Given the description of an element on the screen output the (x, y) to click on. 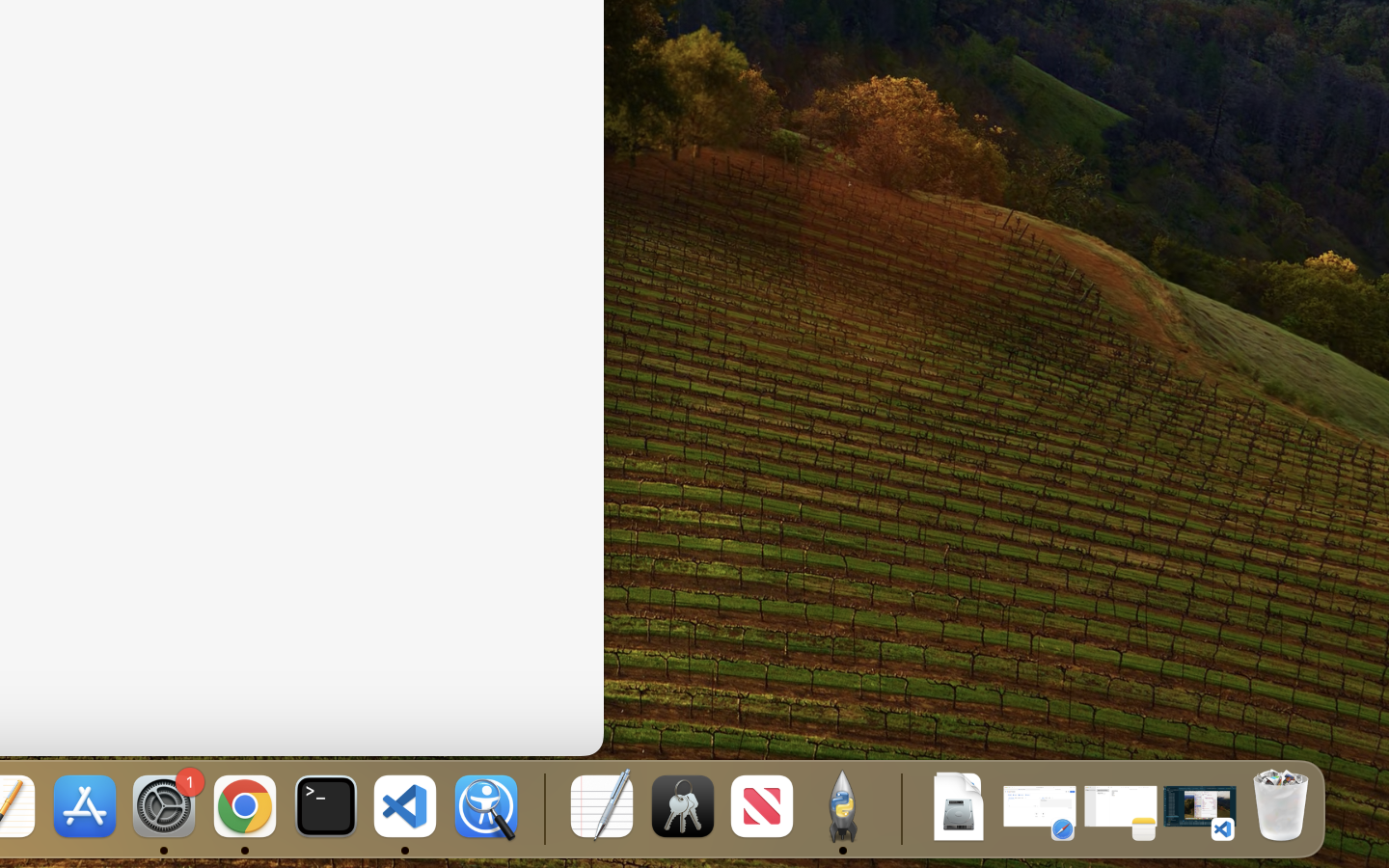
0.4285714328289032 Element type: AXDockItem (541, 807)
